Given the description of an element on the screen output the (x, y) to click on. 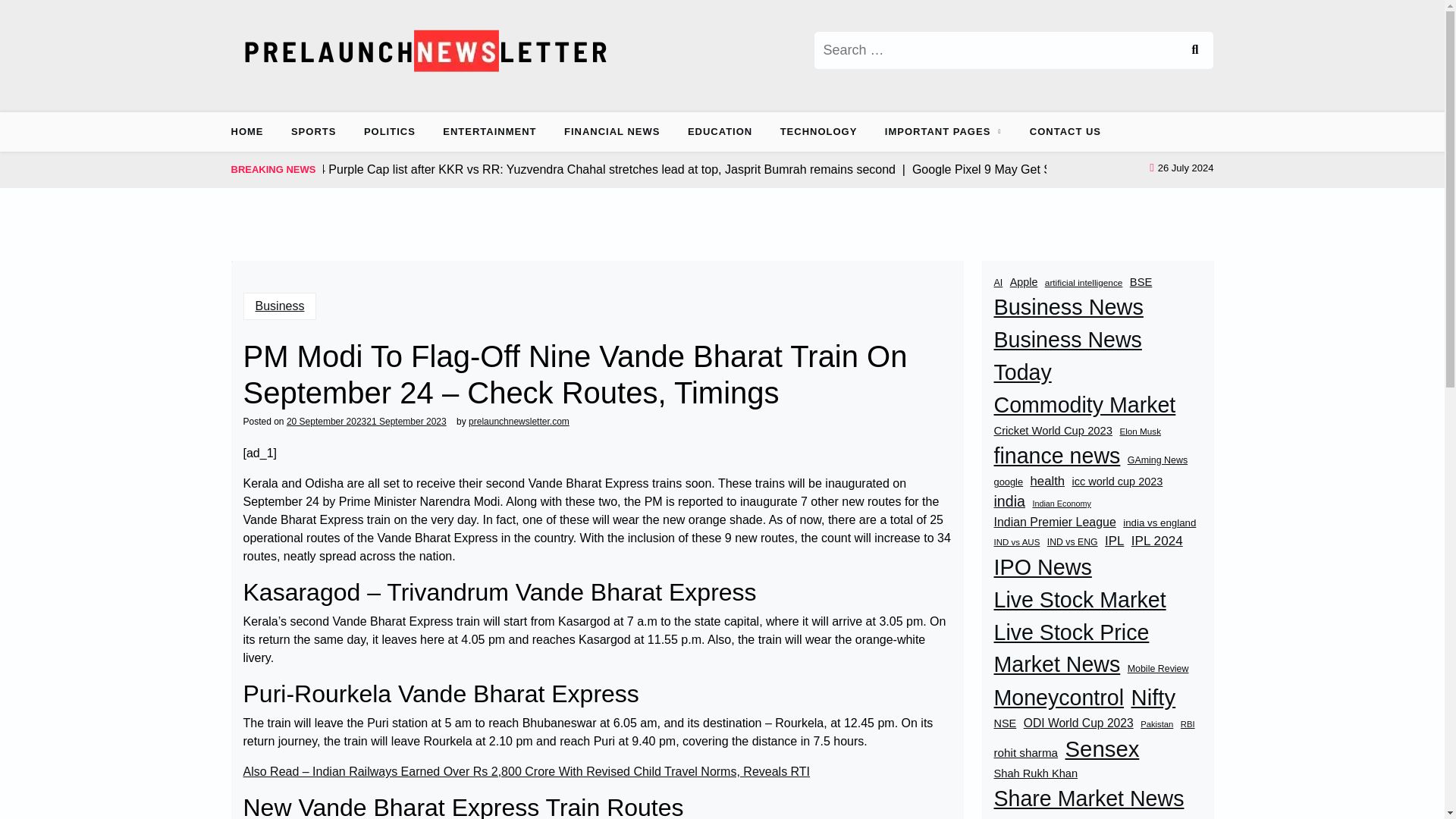
TECHNOLOGY (818, 131)
EDUCATION (719, 131)
FINANCIAL NEWS (611, 131)
Business (279, 306)
IMPORTANT PAGES (937, 131)
HOME (252, 131)
POLITICS (390, 131)
prelaunchnewsletter.com (518, 420)
SPORTS (313, 131)
Search (1193, 49)
ENTERTAINMENT (489, 131)
Search (1193, 49)
CONTACT US (1065, 131)
Search (1193, 49)
20 September 202321 September 2023 (366, 420)
